Given the description of an element on the screen output the (x, y) to click on. 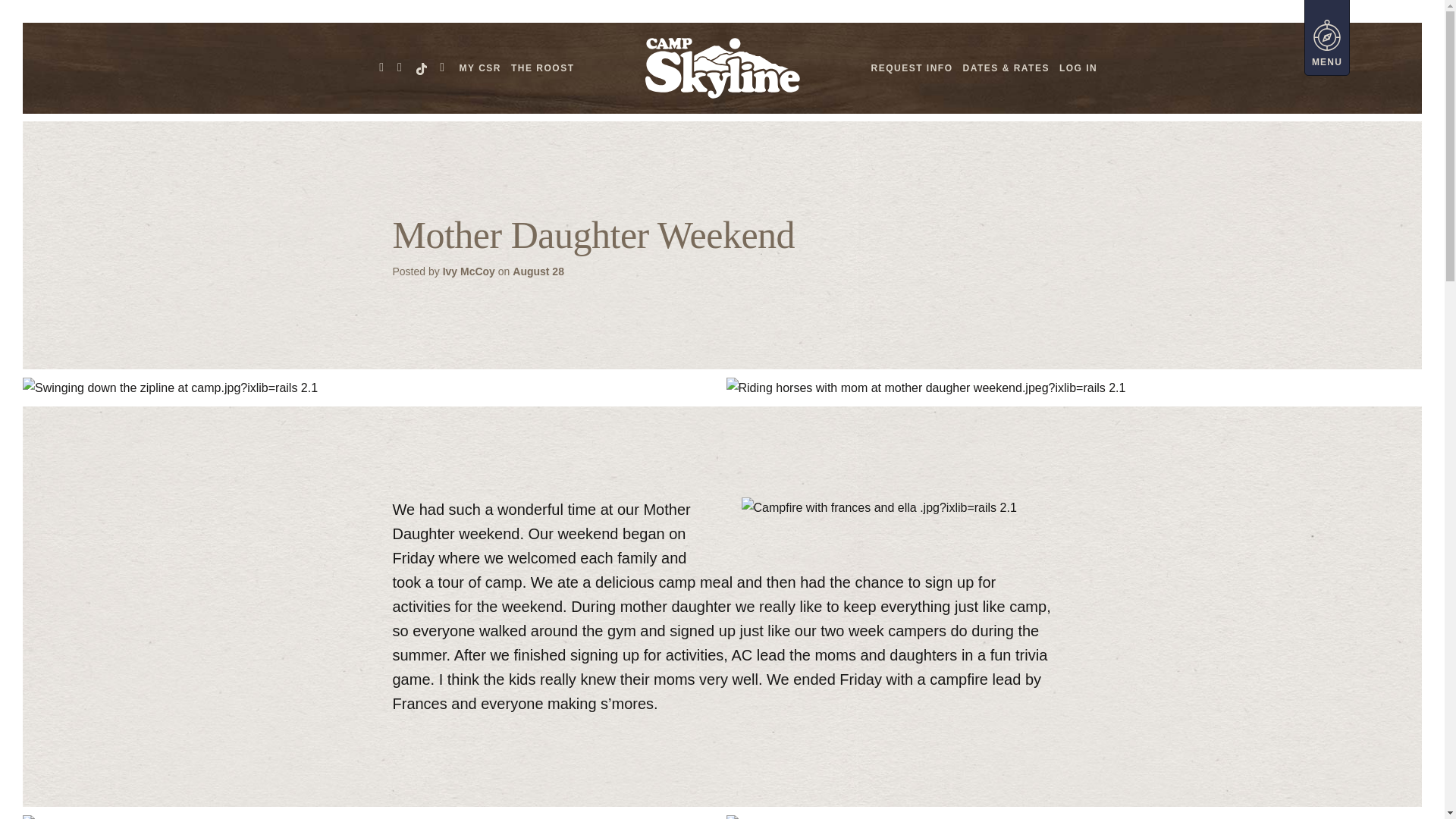
THE ROOST (542, 68)
MY CSR (480, 68)
LOG IN (1078, 68)
REQUEST INFO (911, 68)
